Given the description of an element on the screen output the (x, y) to click on. 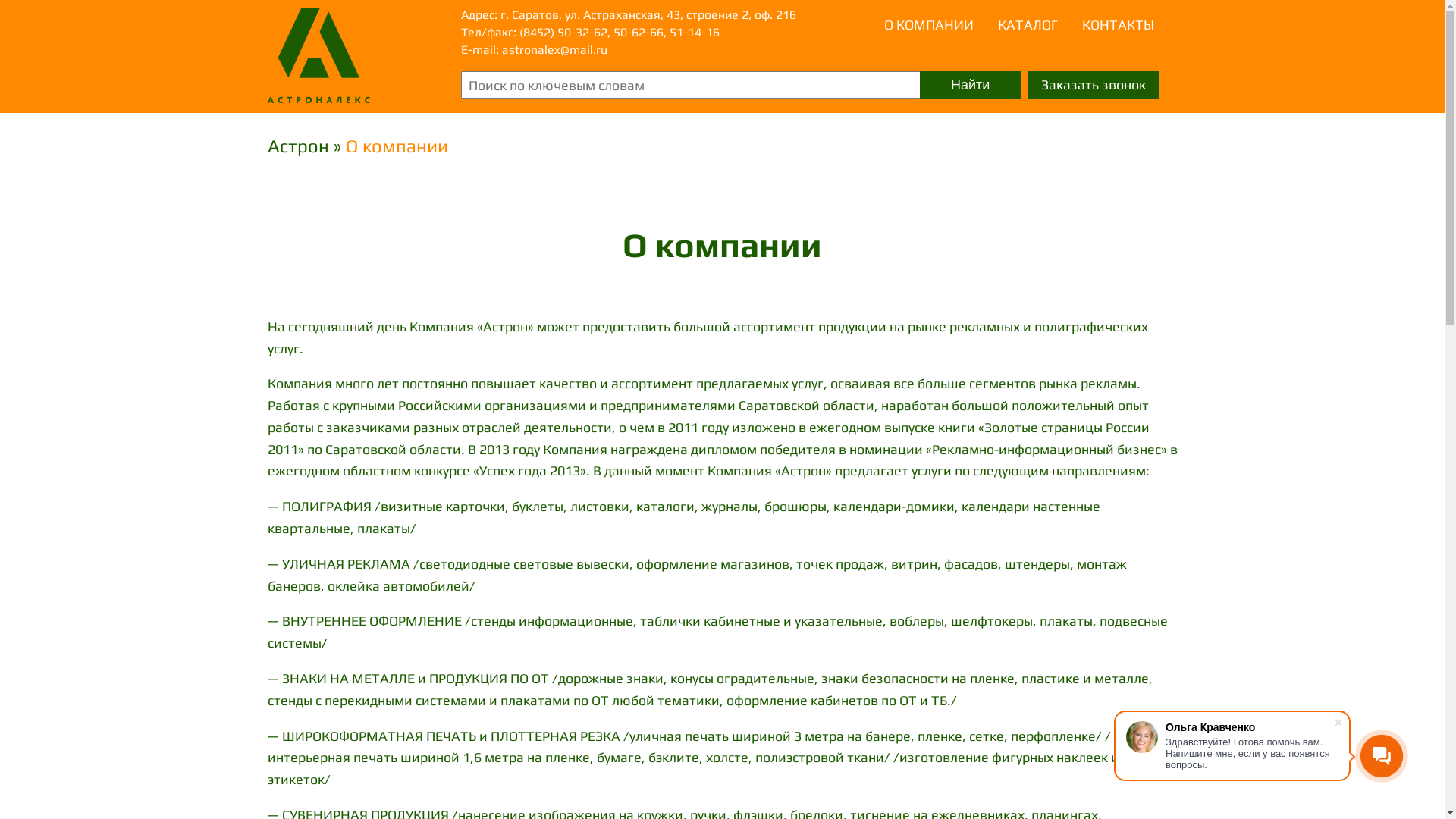
astronalex@mail.ru Element type: text (554, 49)
